Given the description of an element on the screen output the (x, y) to click on. 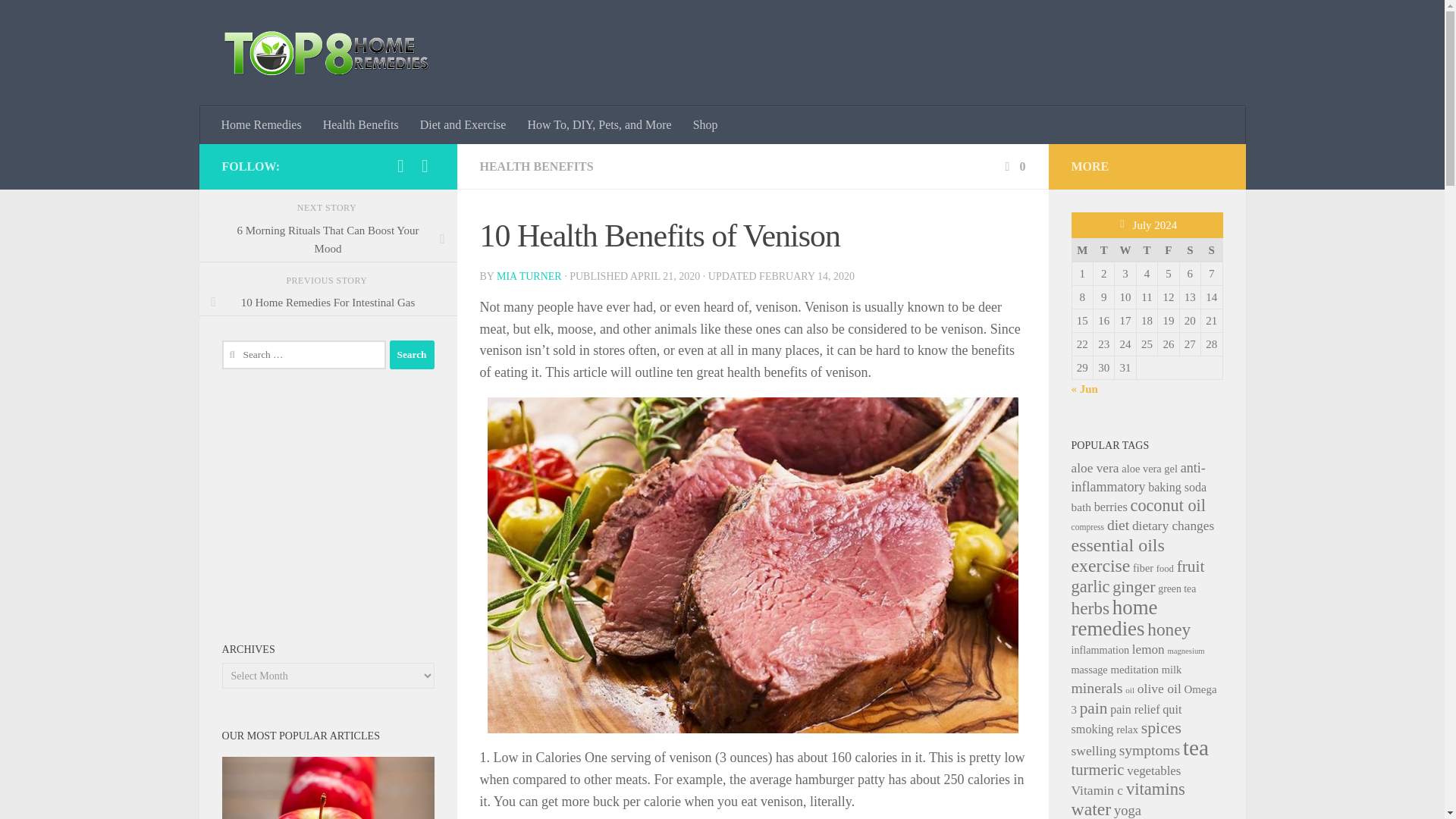
Follow us on Facebook (400, 166)
Skip to content (59, 20)
How To, DIY, Pets, and More (598, 125)
HEALTH BENEFITS (535, 165)
Home Remedies (262, 125)
Search (411, 354)
Search (411, 354)
MIA TURNER (529, 276)
Health Benefits (361, 125)
6 Morning Rituals That Can Boost Your Mood (327, 239)
Follow us on Twitter (423, 166)
Diet and Exercise (462, 125)
10 Home Remedies For Intestinal Gas (327, 302)
Search (411, 354)
0 (1013, 165)
